Given the description of an element on the screen output the (x, y) to click on. 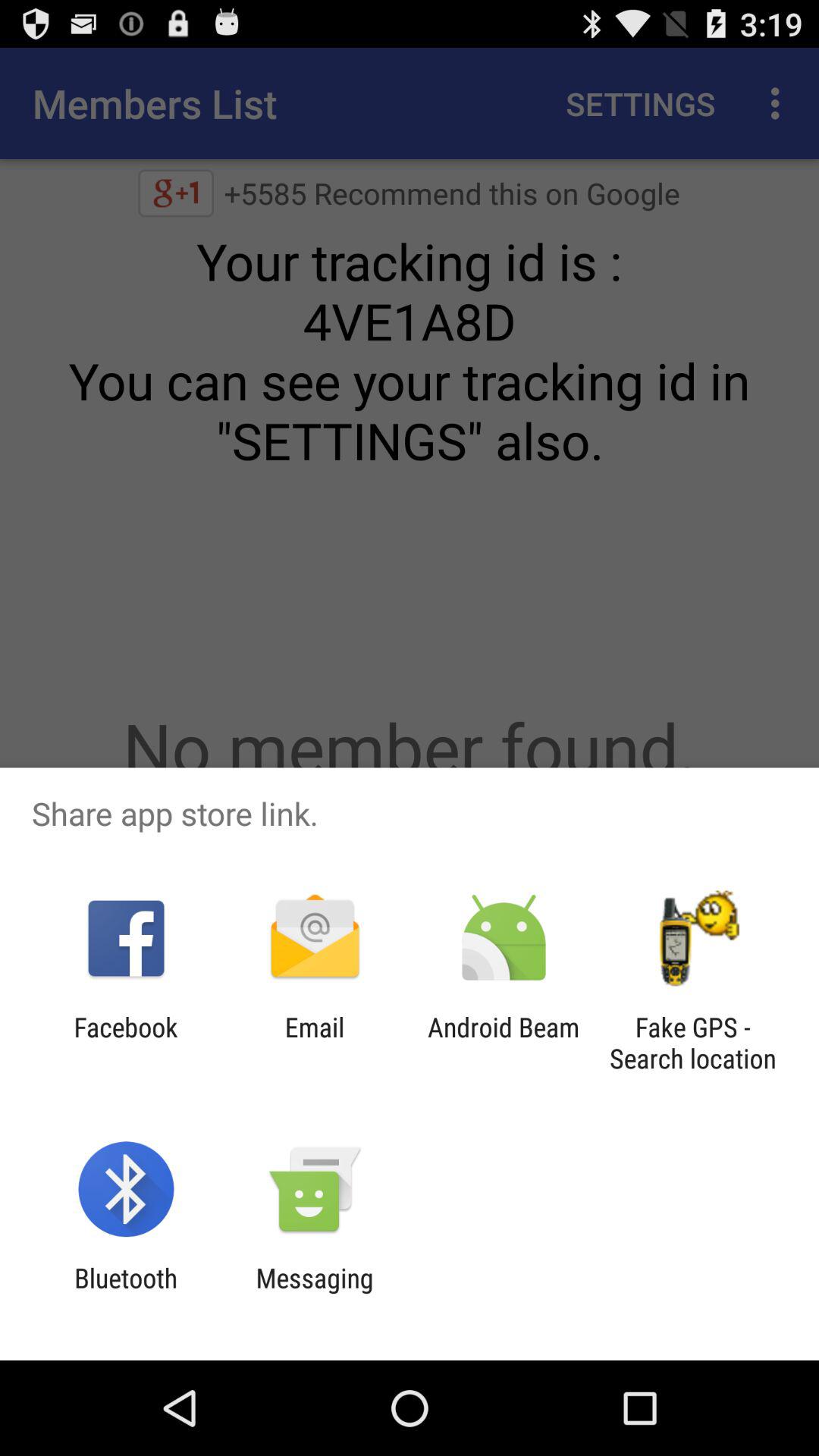
click fake gps search (692, 1042)
